Given the description of an element on the screen output the (x, y) to click on. 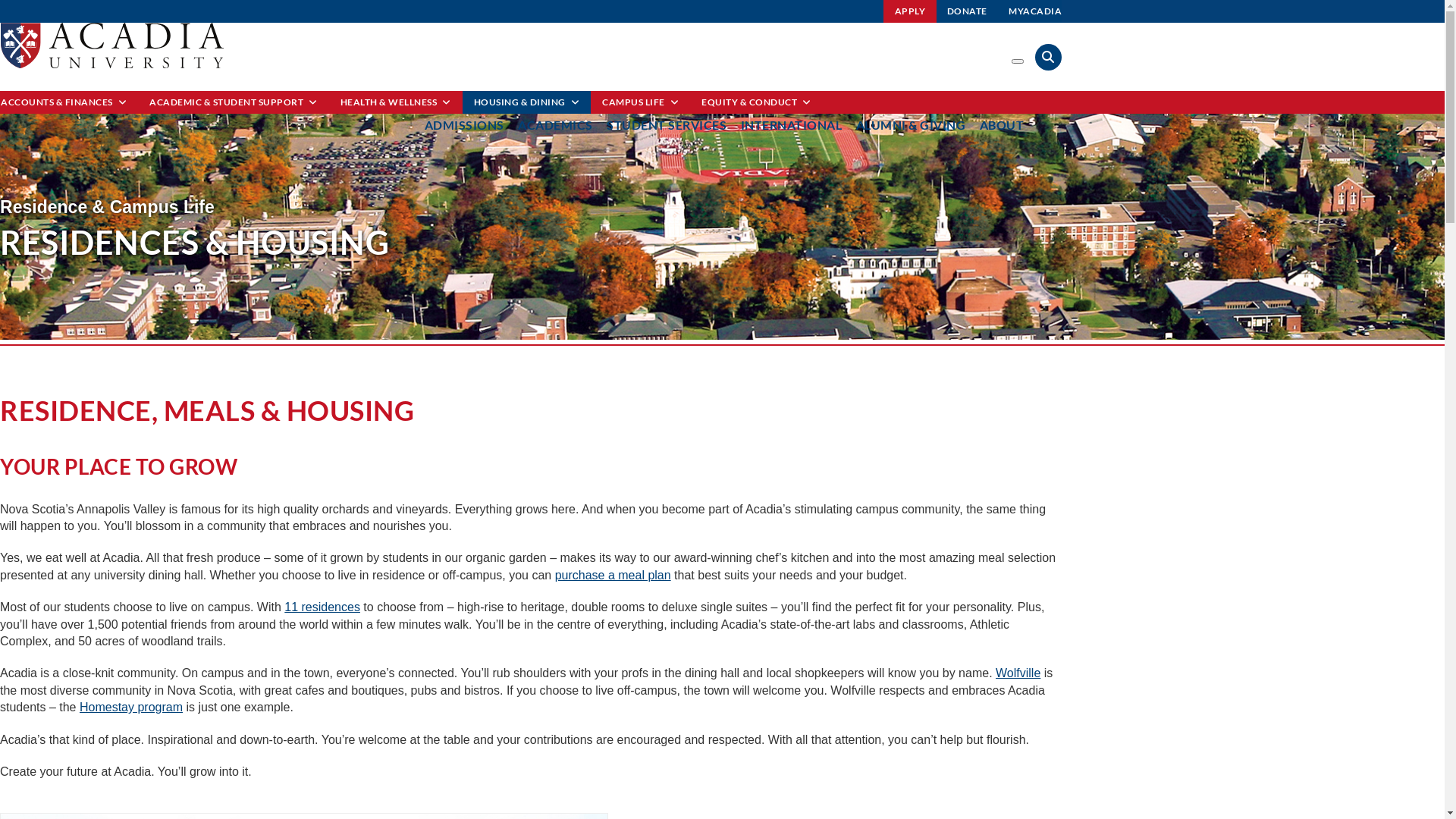
DONATE Element type: text (966, 11)
ADMISSIONS Element type: text (464, 124)
11 residences Element type: text (322, 606)
STUDENT SERVICES Element type: text (666, 124)
ACADEMICS Element type: text (555, 124)
ALUMNI & GIVING Element type: text (910, 124)
Homestay program Element type: text (130, 706)
Wolfville Element type: text (1017, 672)
ABOUT Element type: text (1001, 124)
purchase a meal plan Element type: text (613, 574)
EQUITY & CONDUCT Element type: text (756, 102)
HEALTH & WELLNESS Element type: text (395, 102)
APPLY Element type: text (909, 11)
ACADEMIC & STUDENT SUPPORT Element type: text (233, 102)
MYACADIA Element type: text (1035, 11)
INTERNATIONAL Element type: text (790, 124)
CAMPUS LIFE Element type: text (640, 102)
HOUSING & DINING Element type: text (526, 102)
